Given the description of an element on the screen output the (x, y) to click on. 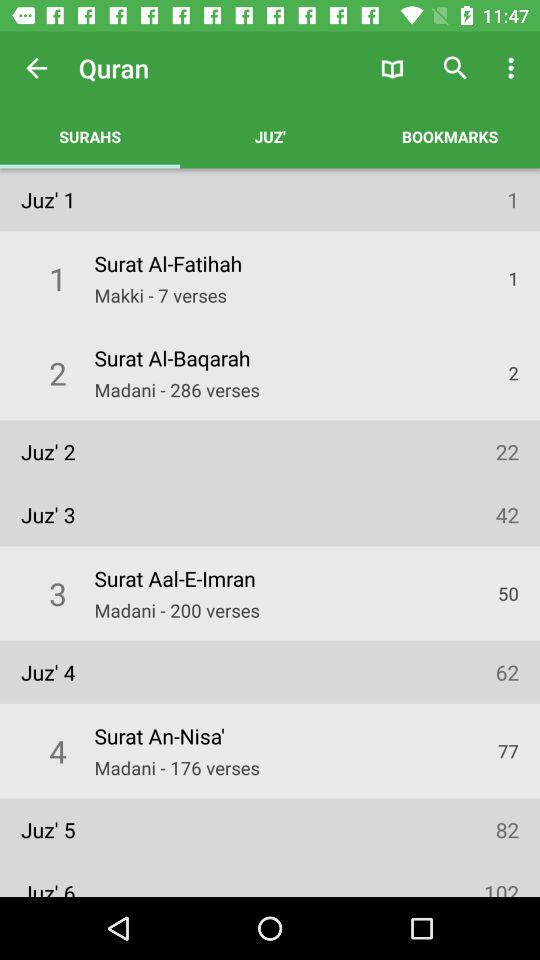
jump until surahs item (90, 136)
